Given the description of an element on the screen output the (x, y) to click on. 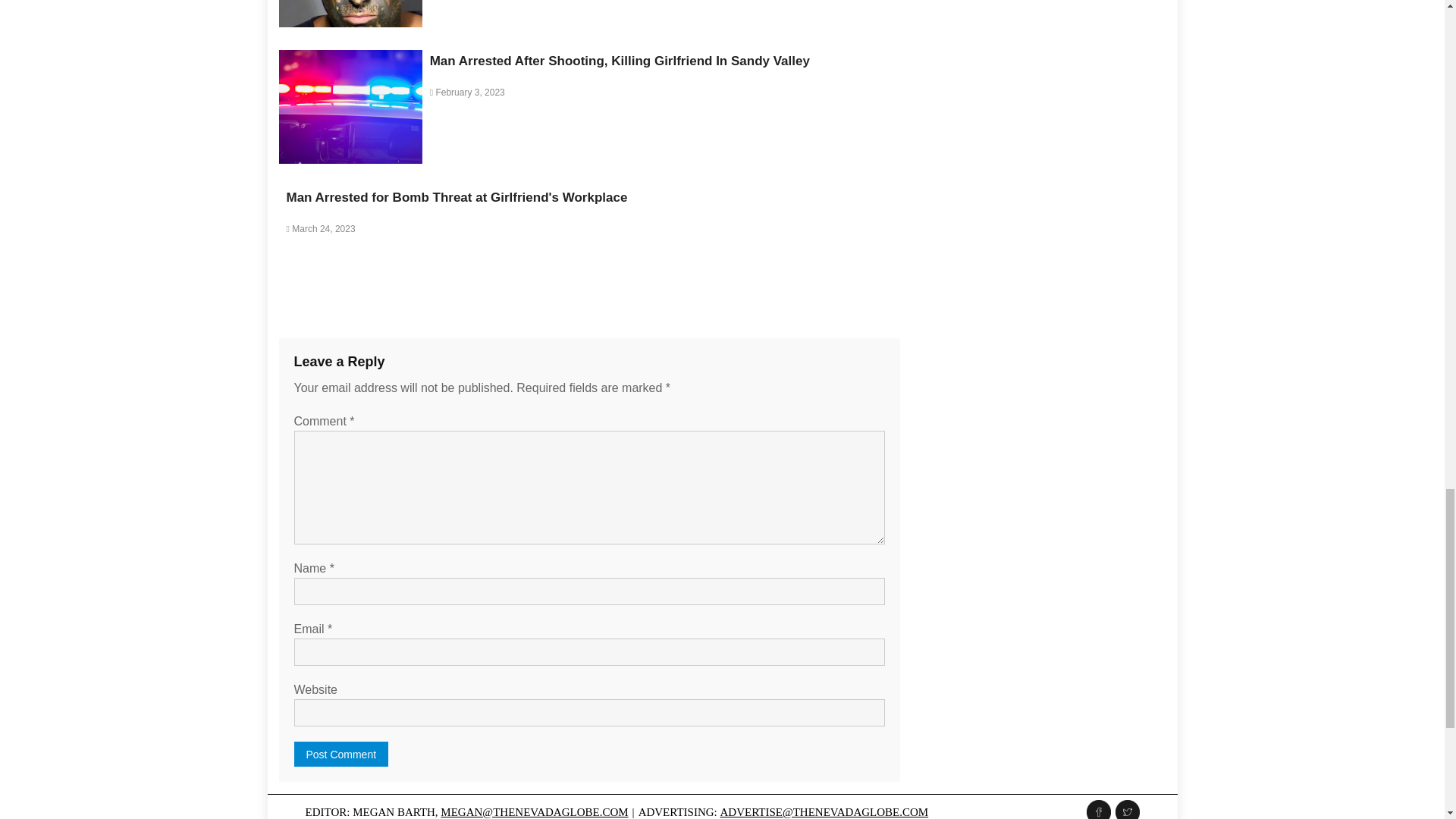
Man Arrested for Bomb Threat at Girlfriend's Workplace (456, 197)
Post Comment (341, 754)
Post Comment (341, 754)
